Given the description of an element on the screen output the (x, y) to click on. 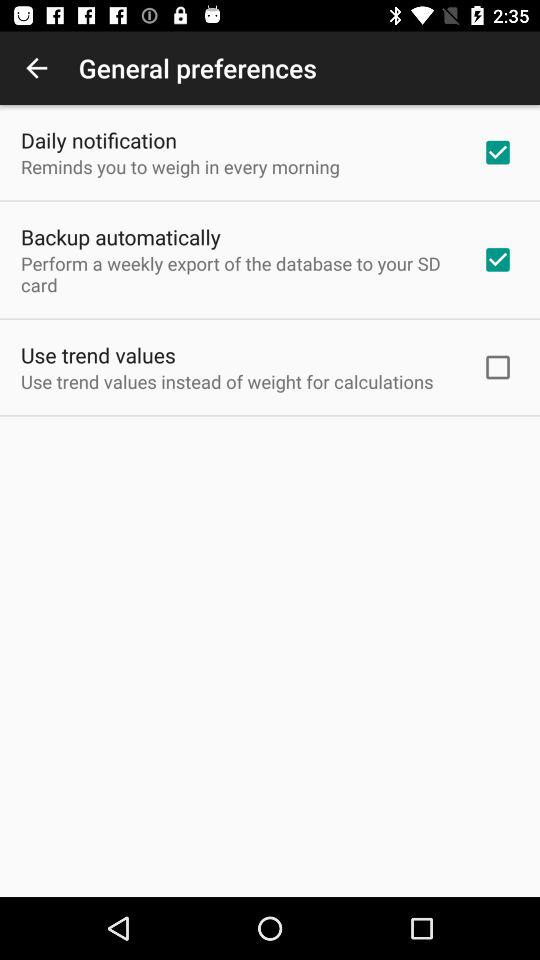
tap backup automatically item (120, 236)
